Given the description of an element on the screen output the (x, y) to click on. 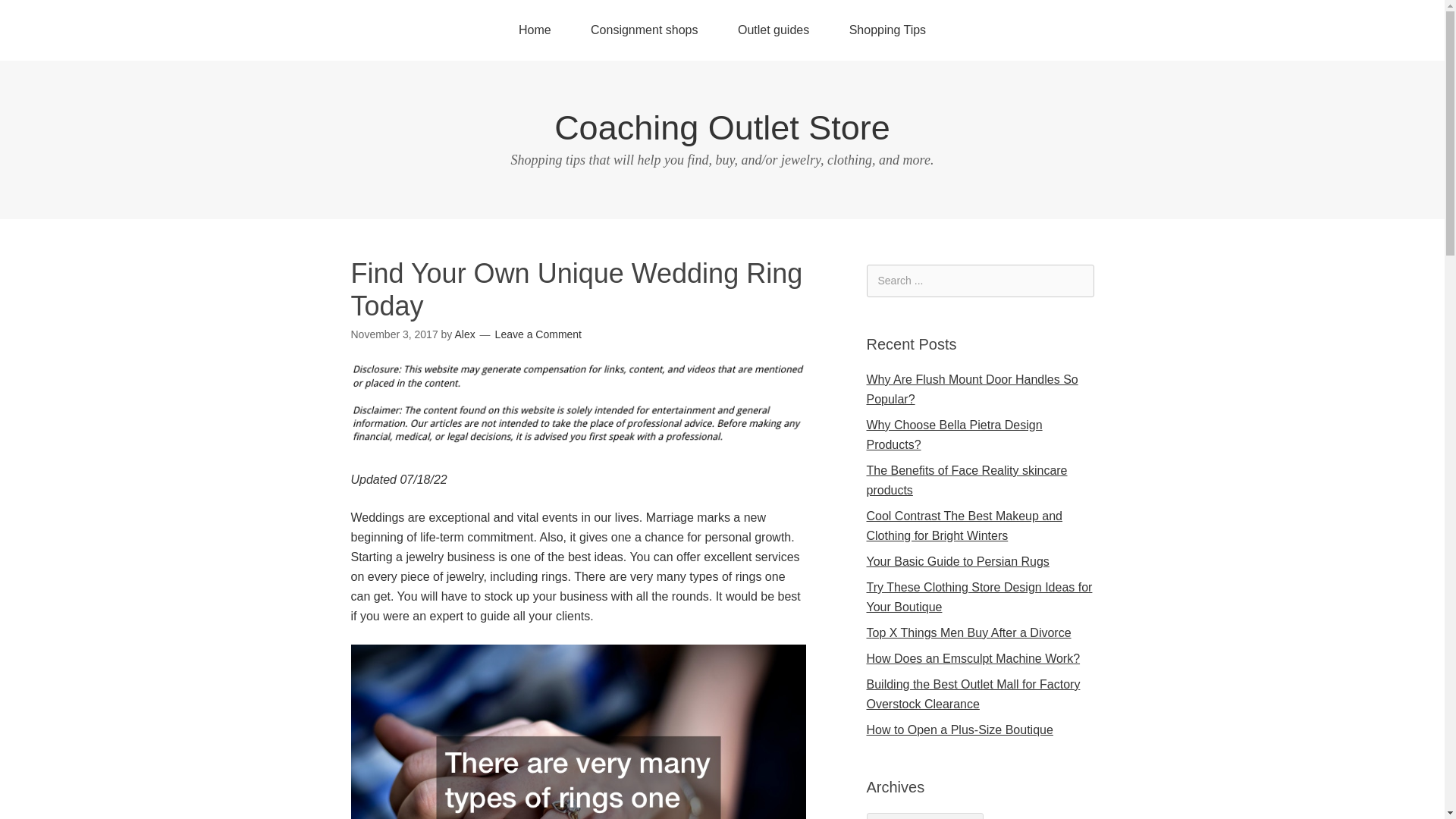
Friday, November 3, 2017, 3:51 am (394, 334)
Posts by Alex (464, 334)
Coaching Outlet Store (721, 127)
Why Are Flush Mount Door Handles So Popular? (971, 389)
Top X Things Men Buy After a Divorce (968, 632)
How Does an Emsculpt Machine Work? (973, 658)
Outlet guides (773, 30)
Shopping Tips (887, 30)
